Given the description of an element on the screen output the (x, y) to click on. 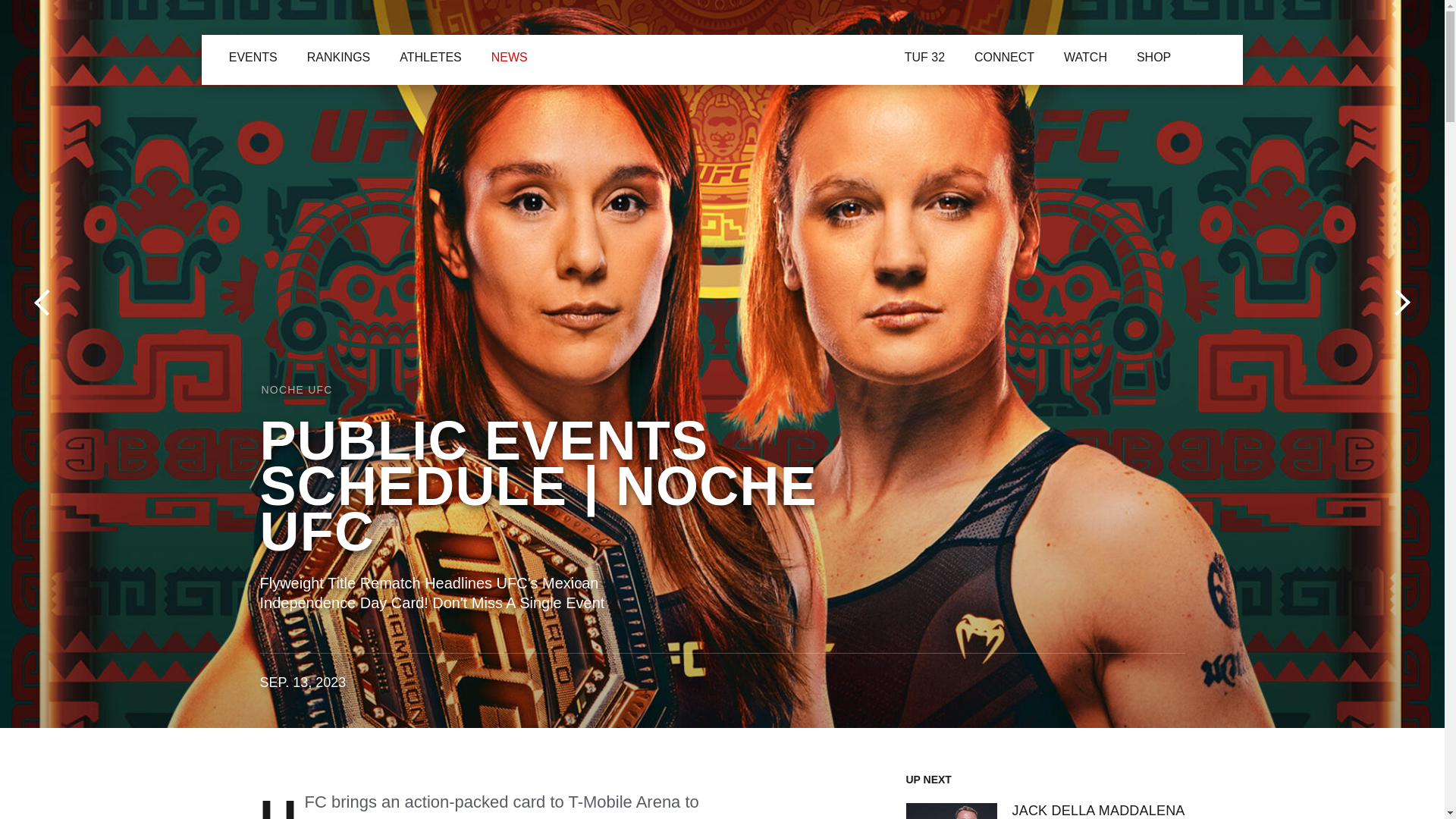
License UFC Video Content (913, 688)
SHOP (962, 56)
WATCH (798, 53)
Skip to main content (9, 9)
Watch The Ultimate Fighter (924, 57)
